Given the description of an element on the screen output the (x, y) to click on. 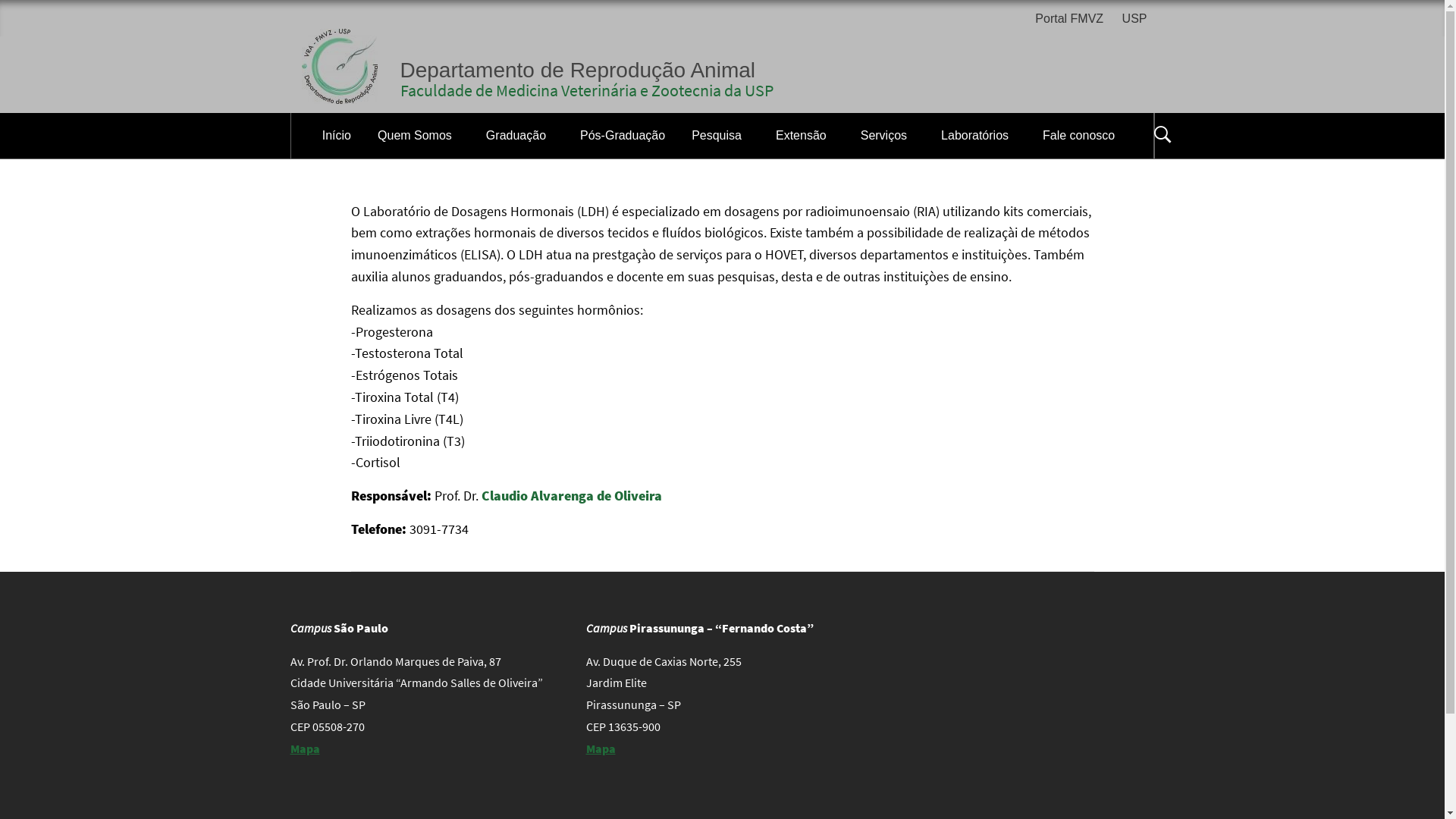
USP Element type: text (1134, 19)
Pesquisar Element type: text (797, 33)
Mapa Element type: text (600, 748)
Fale conosco Element type: text (1082, 135)
Claudio Alvarenga de Oliveira Element type: text (570, 495)
Pesquisa Element type: text (720, 135)
Quem Somos Element type: text (418, 135)
Portal FMVZ Element type: text (1072, 19)
Mapa Element type: text (304, 748)
